Given the description of an element on the screen output the (x, y) to click on. 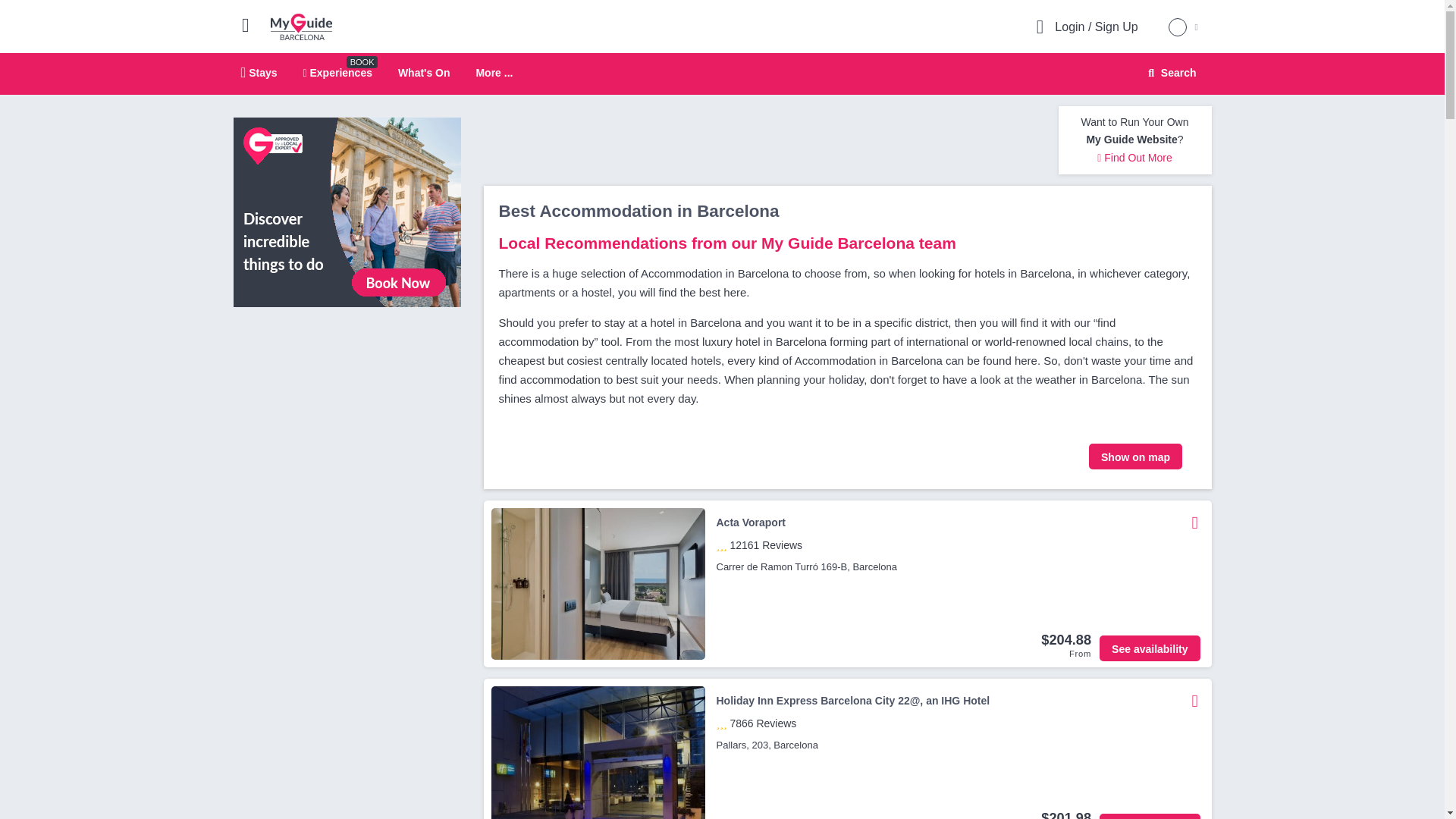
What's On (423, 72)
Stays (259, 72)
Larger Map for Company: Accommodation  (1135, 456)
View All Experiences (346, 211)
Search Website (721, 74)
Search (1170, 73)
My Guide Barcelona (1169, 72)
More ... (300, 25)
Experiences (494, 72)
